Given the description of an element on the screen output the (x, y) to click on. 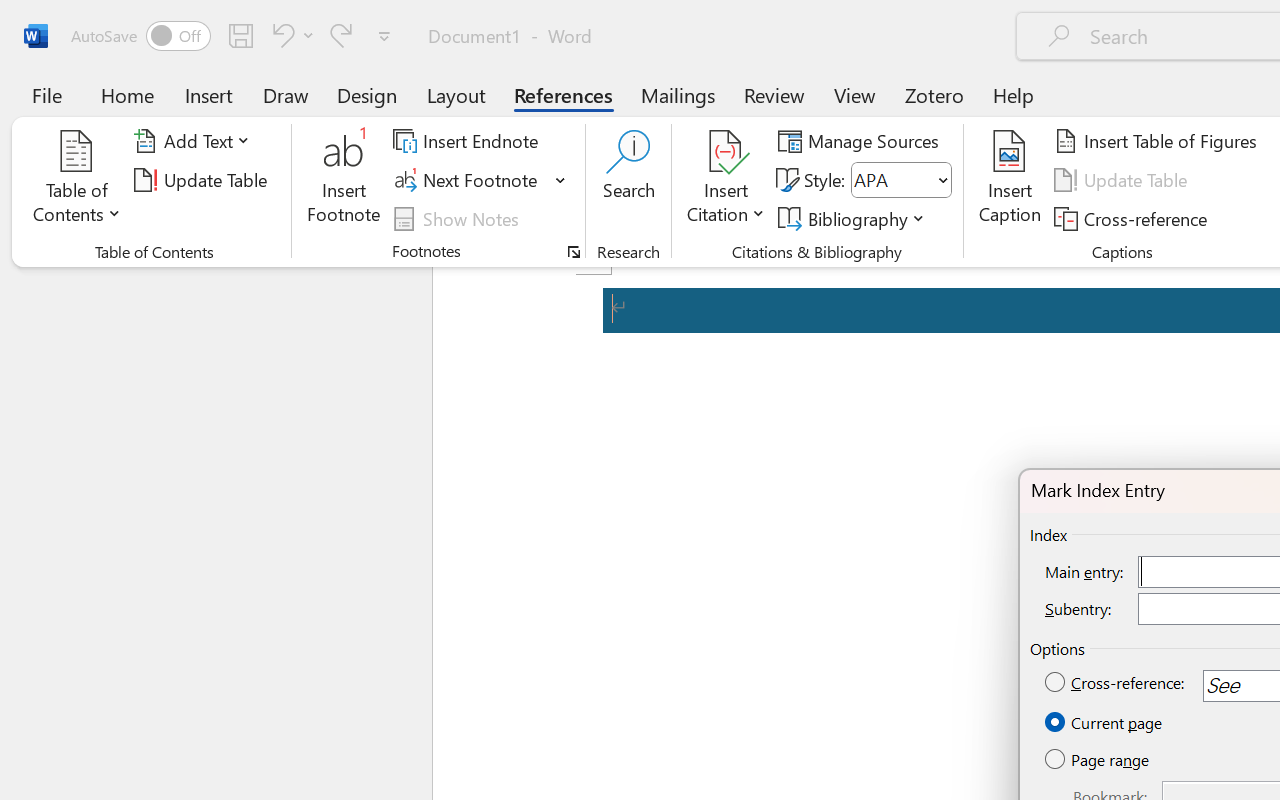
Add Text (195, 141)
Page range (1098, 760)
Style (892, 179)
Insert Caption... (1009, 180)
Style (901, 179)
Redo Apply Quick Style (341, 35)
Cross-reference: (1115, 683)
